Given the description of an element on the screen output the (x, y) to click on. 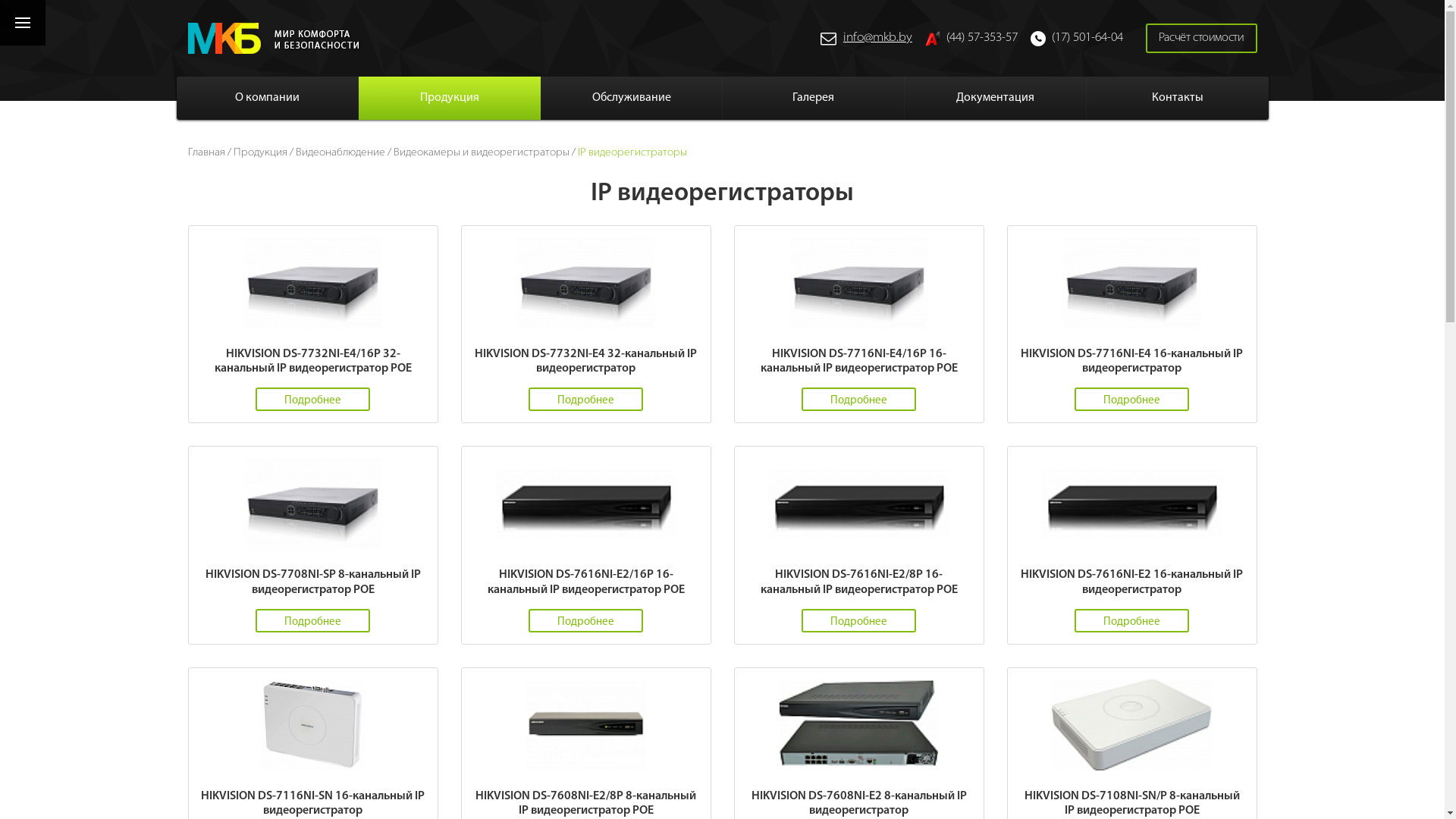
(44) 57-353-57 Element type: text (970, 37)
info@mkb.by Element type: text (866, 37)
(17) 501-64-04 Element type: text (1076, 37)
